Given the description of an element on the screen output the (x, y) to click on. 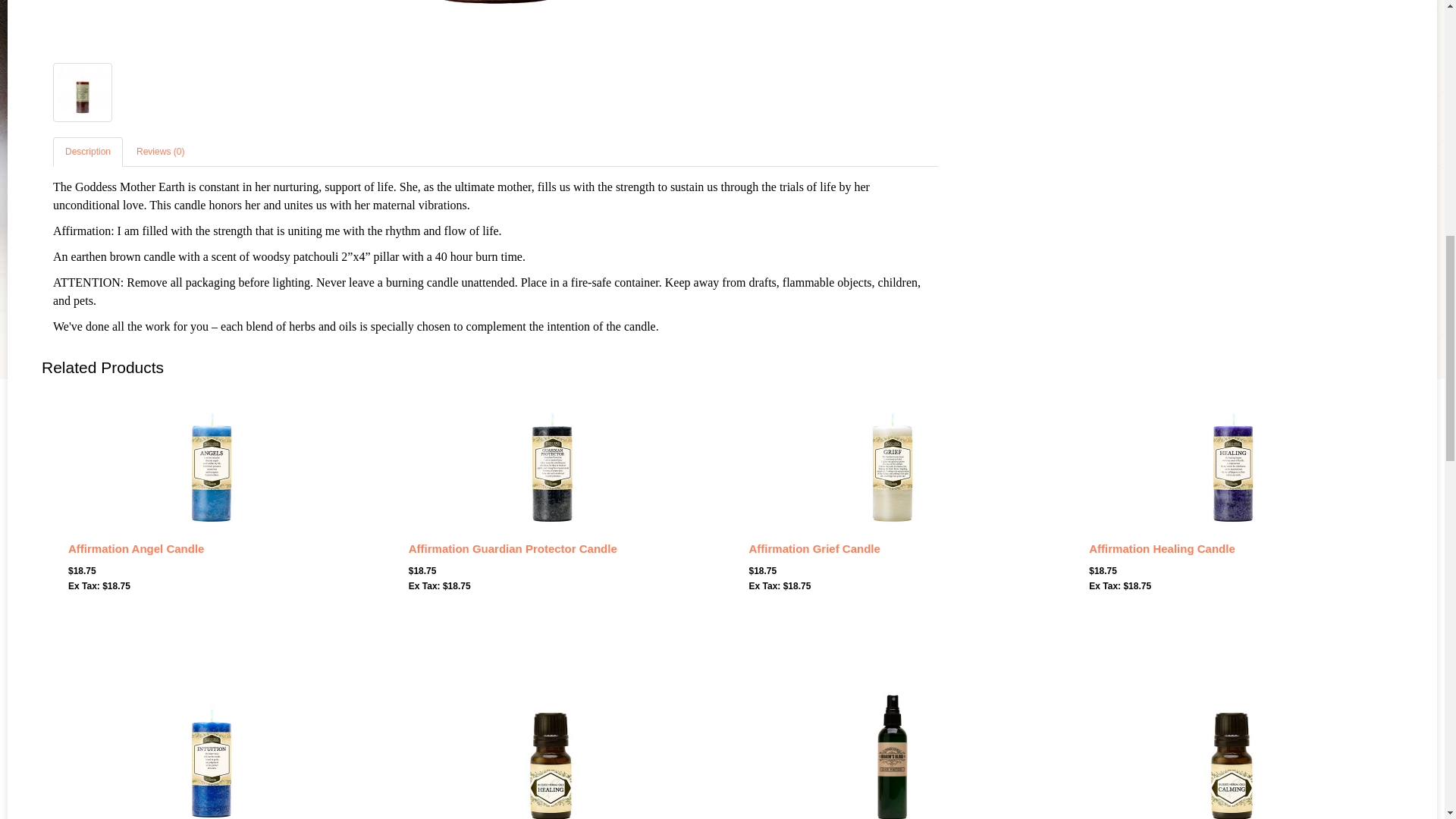
Affirmation Goddess Candle (494, 22)
Affirmation Healing Candle (1232, 459)
Affirmation Goddess Candle (82, 92)
Affirmation Guardian Protector Candle (551, 459)
Affirmation Goddess Candle (494, 23)
Affirmation Goddess Candle (82, 92)
Affirmation Angel Candle (210, 459)
Affirmation Grief Candle (892, 459)
